Given the description of an element on the screen output the (x, y) to click on. 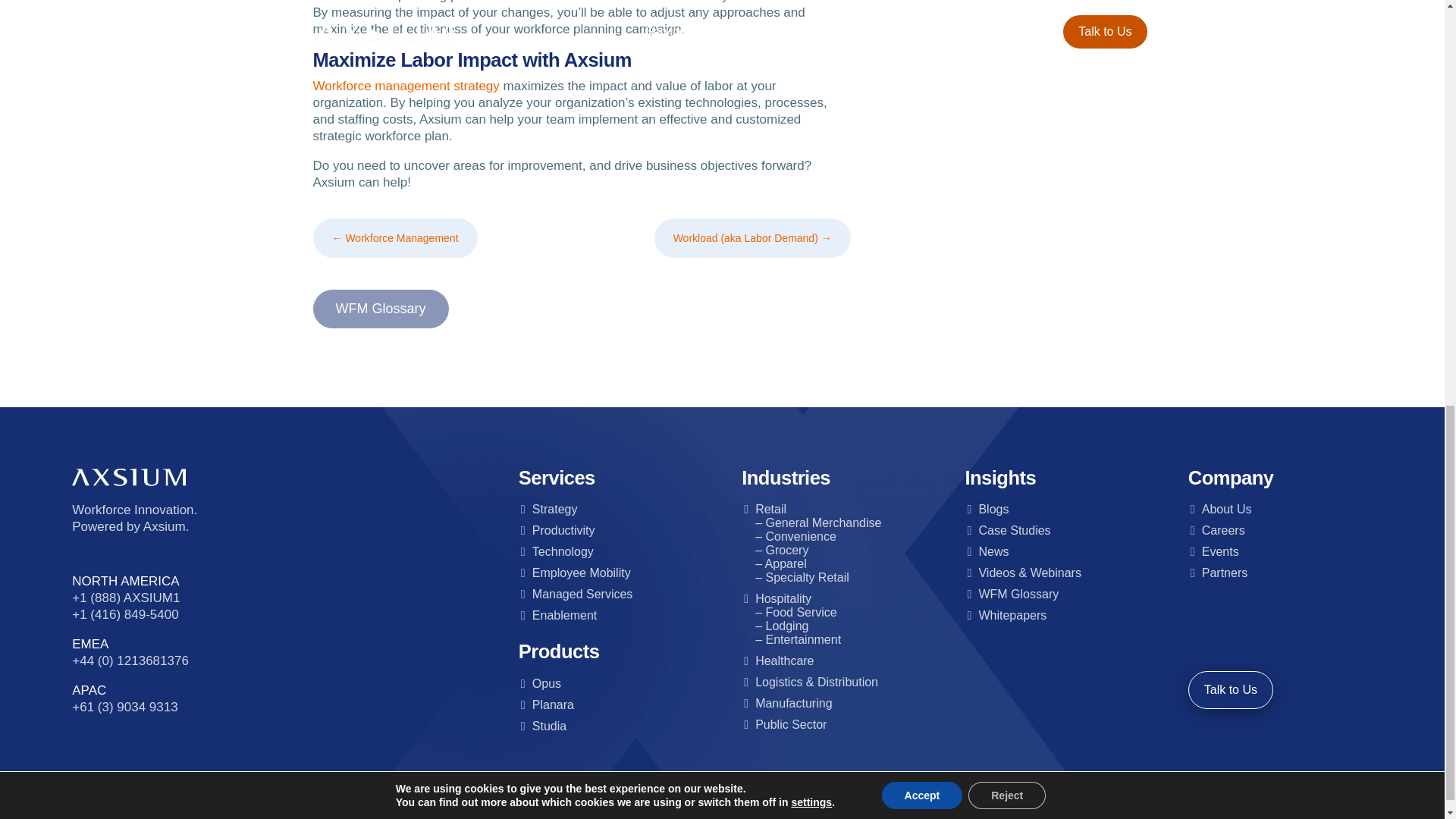
Logo White (128, 477)
Accessibility Policy and AODA Plan 2023 (778, 805)
